Given the description of an element on the screen output the (x, y) to click on. 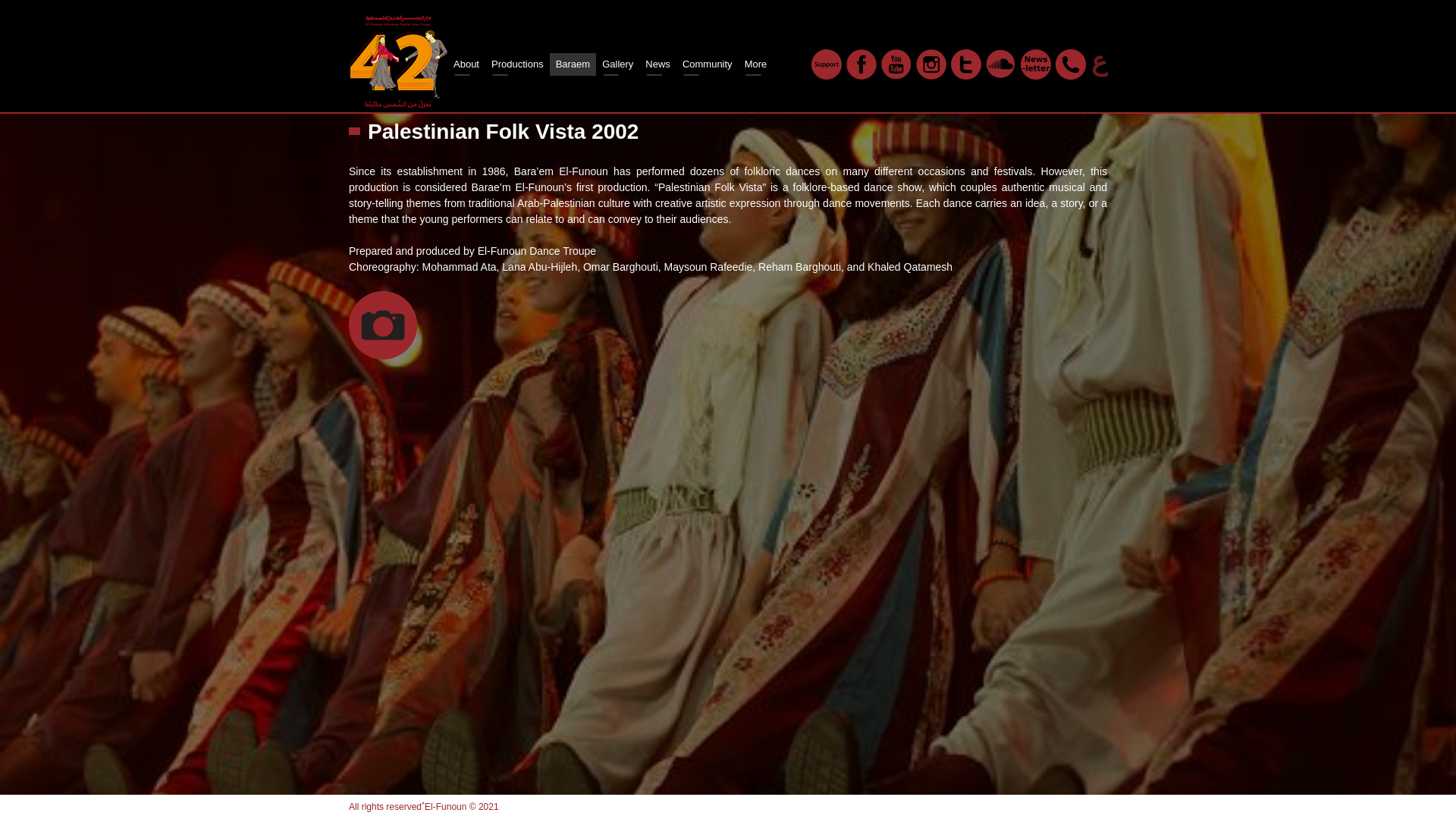
Home (397, 61)
